Given the description of an element on the screen output the (x, y) to click on. 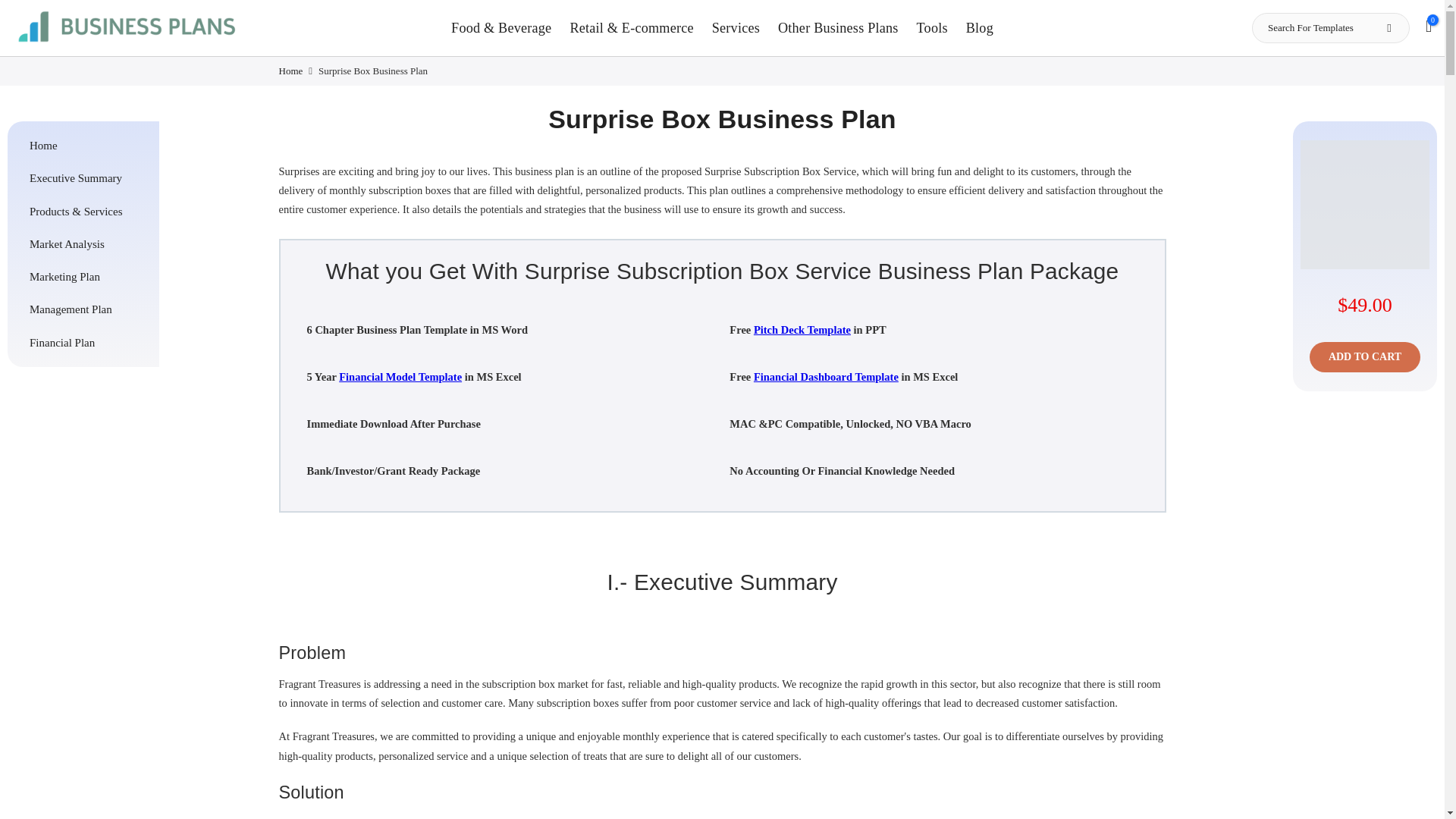
Other Business Plans (837, 27)
Home (290, 70)
Tools (931, 27)
Blog (979, 27)
Pitch Deck Template (802, 329)
Financial Plan (85, 341)
ADD TO CART (1364, 357)
Marketing Plan (85, 276)
Financial Dashboard Template (826, 377)
Executive Summary (85, 177)
